Given the description of an element on the screen output the (x, y) to click on. 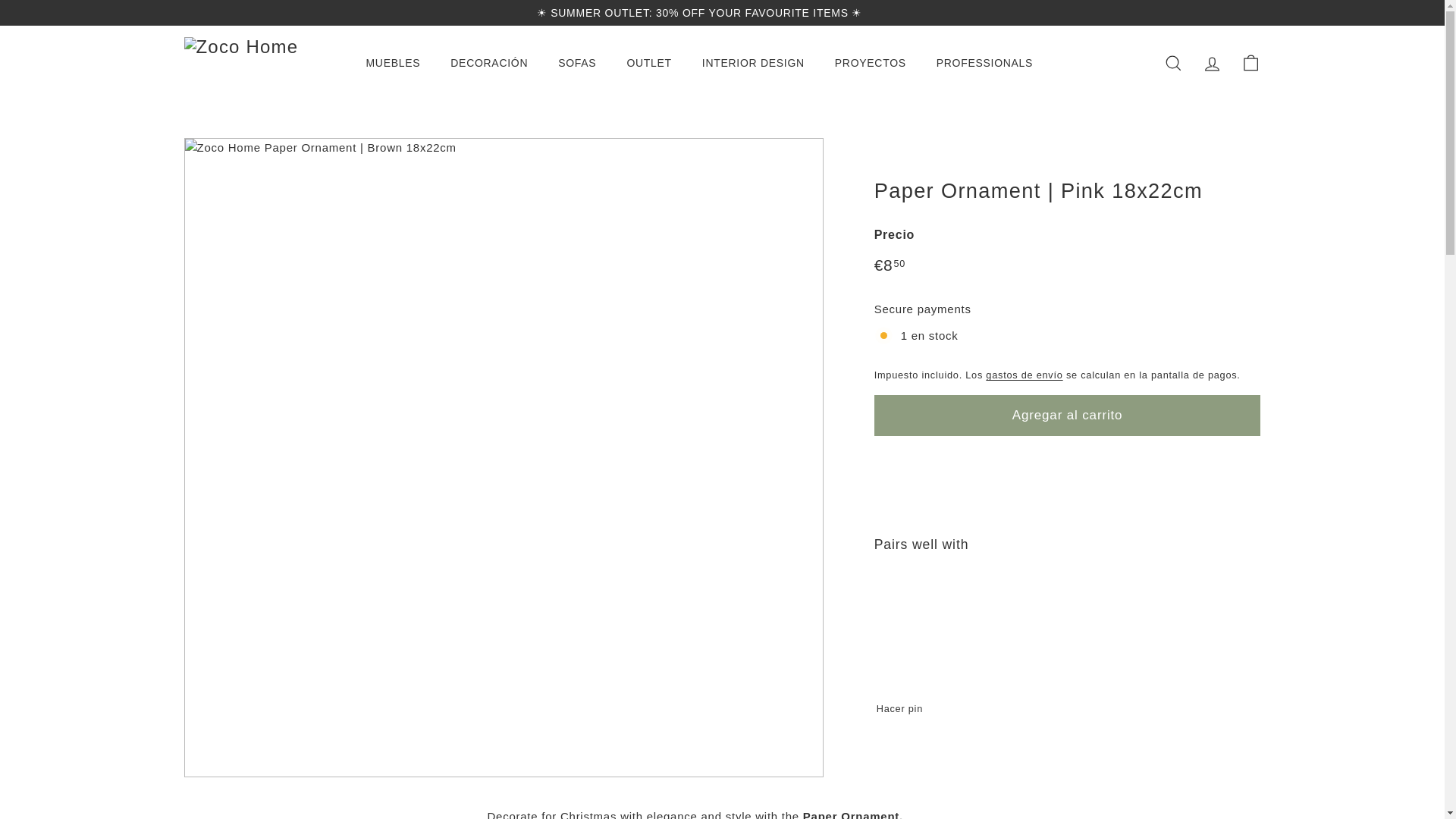
Zoco Home  en Pinterest (1248, 12)
Facebook (1233, 12)
Zoco Home  en Instagram (1226, 12)
Zoco Home  en YouTube (1240, 12)
Zoco Home  en Facebook (1233, 12)
TikTok (1256, 12)
Instagram (1226, 12)
YouTube (1240, 12)
Pinterest (1248, 12)
Pinear en Pinterest (904, 708)
Zoco Home  en TikTok (1256, 12)
